Given the description of an element on the screen output the (x, y) to click on. 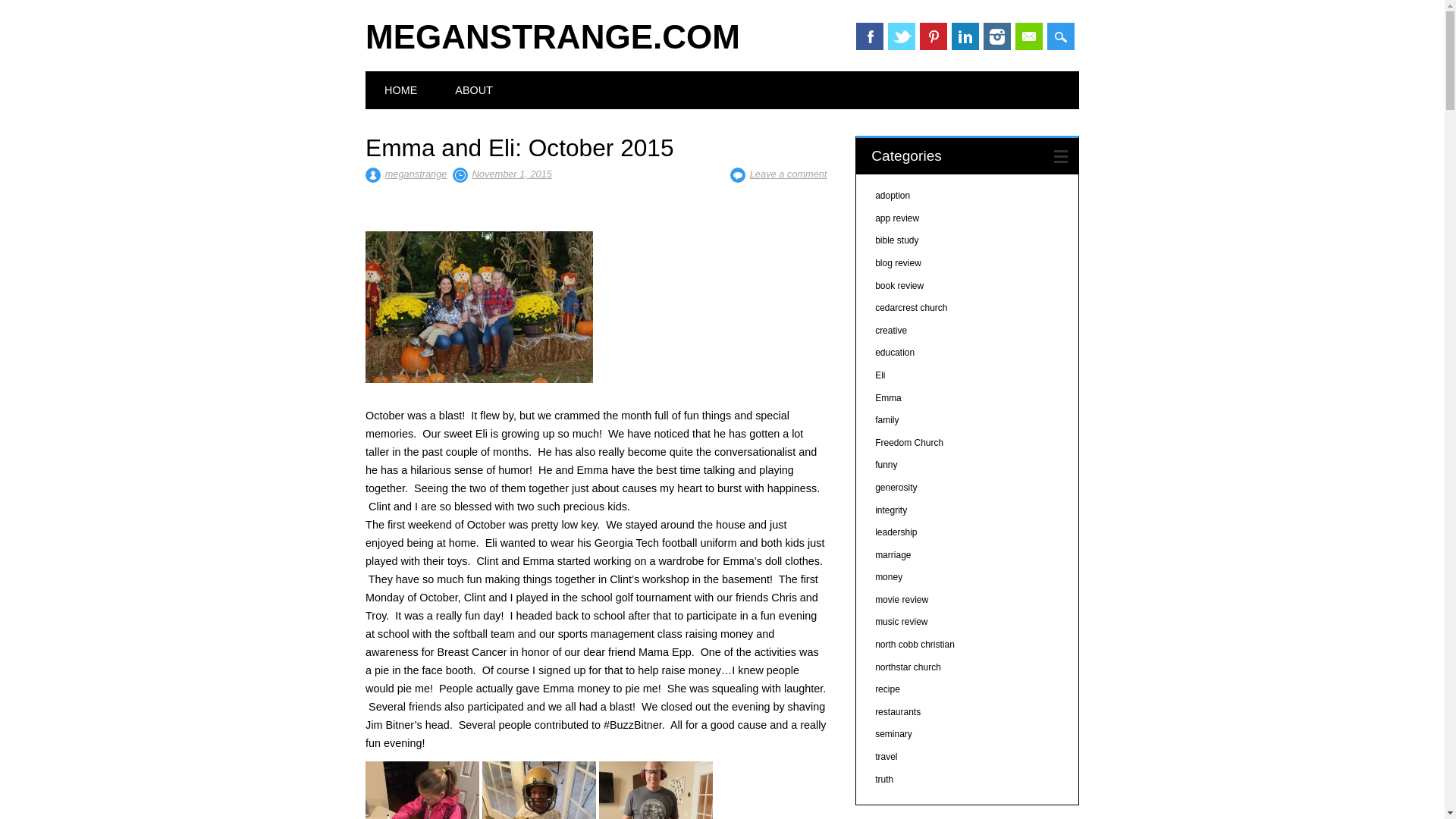
meganstrange.com (552, 36)
November 1, 2015 (511, 173)
Pinterest (933, 35)
Twitter (901, 35)
Leave a comment (788, 173)
MEGANSTRANGE.COM (552, 36)
ABOUT (473, 89)
HOME (400, 89)
View all posts by meganstrange (415, 173)
3:45 pm (511, 173)
